Given the description of an element on the screen output the (x, y) to click on. 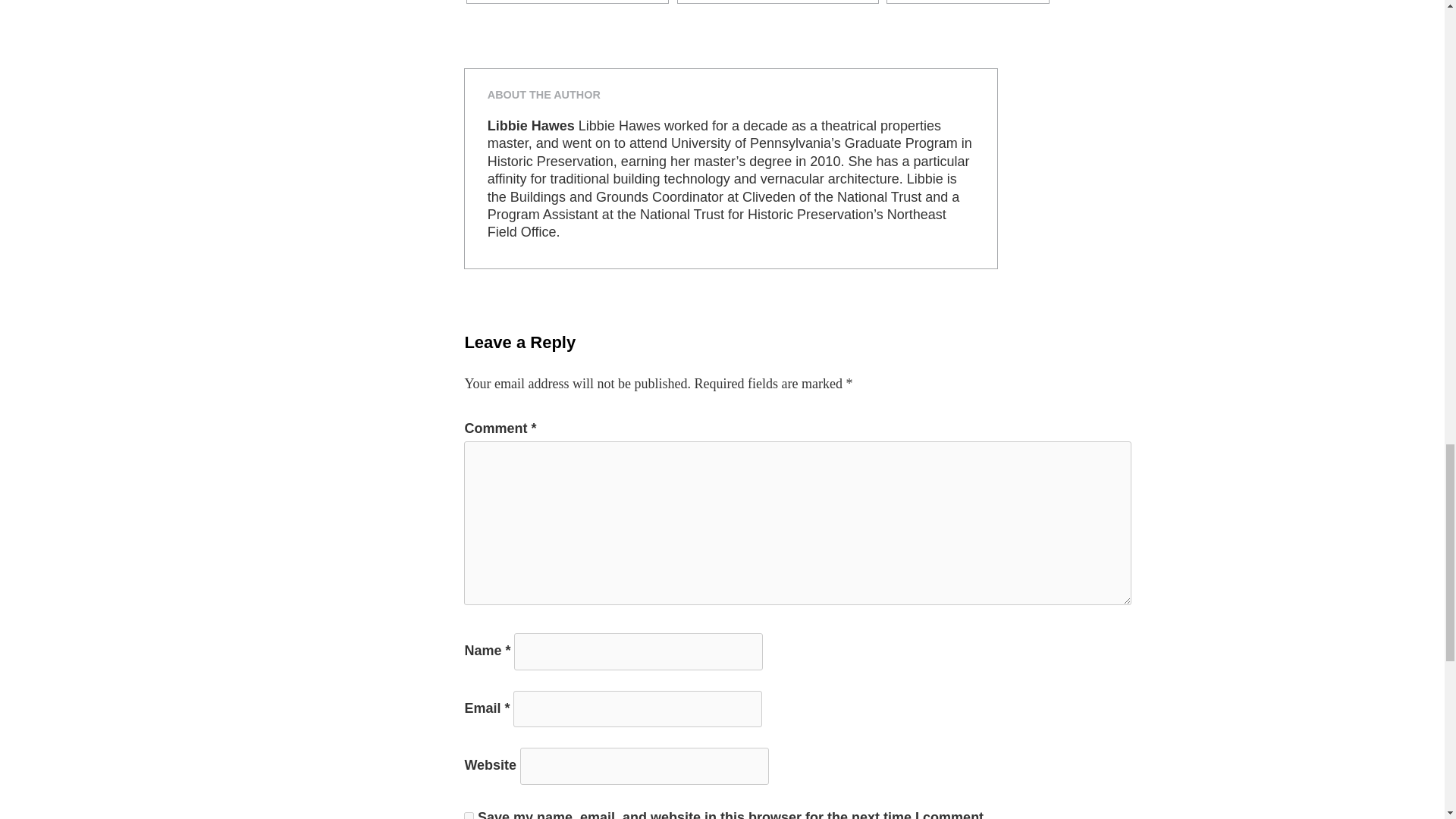
MOUNT MORIAH CEMETERY (566, 2)
NEIGHBORHOOD SERVICES (778, 2)
SERVE PHILADELPHIA (967, 2)
yes (469, 815)
